Given the description of an element on the screen output the (x, y) to click on. 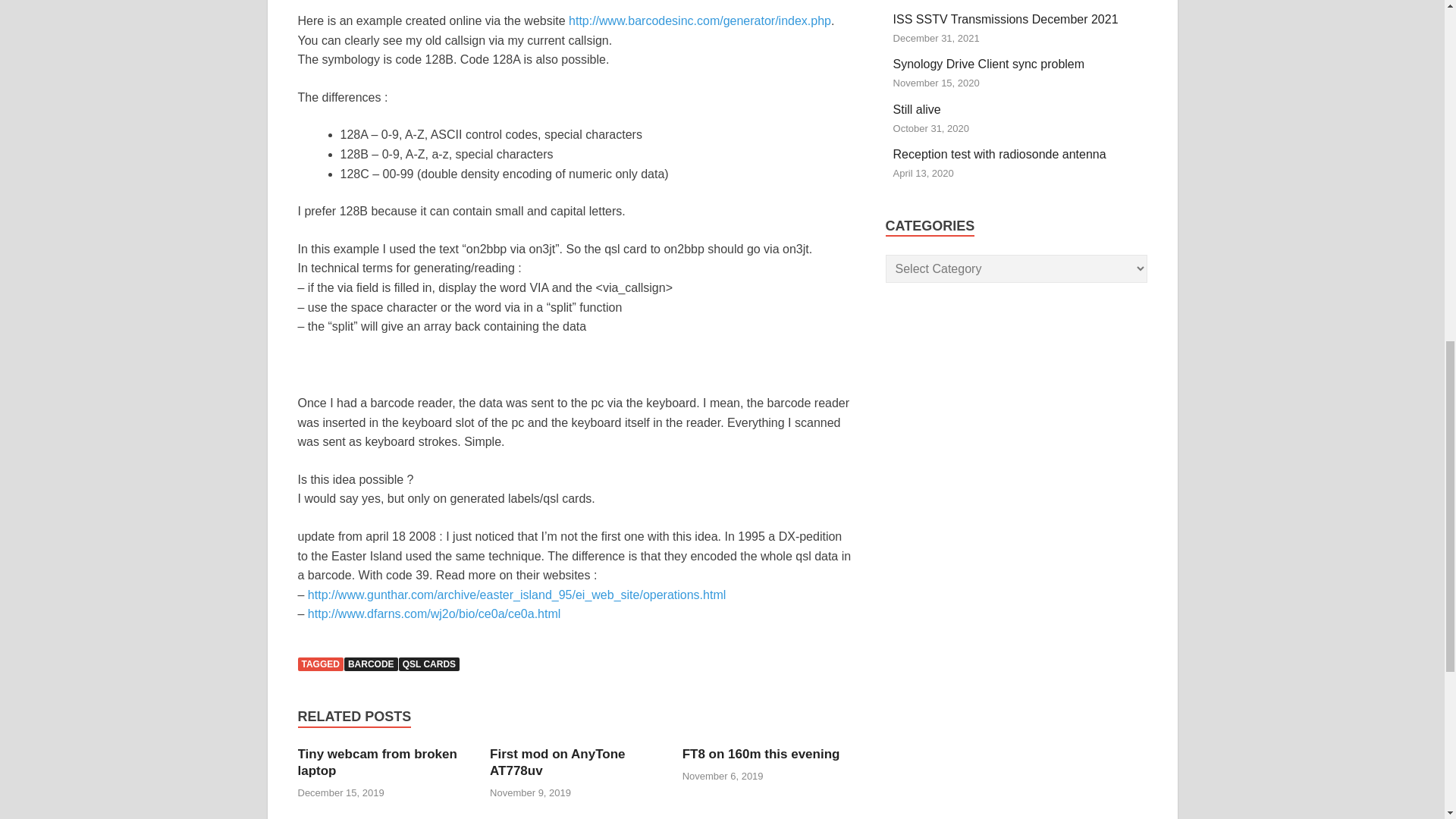
Tiny webcam from broken laptop (377, 762)
BARCODE (370, 663)
FT8 on 160m this evening (761, 753)
Synology Drive Client sync problem (988, 63)
First mod on AnyTone AT778uv (557, 762)
ISS SSTV Transmissions December 2021 (1005, 19)
First mod on AnyTone AT778uv (557, 762)
Tiny webcam from broken laptop (377, 762)
QSL CARDS (429, 663)
FT8 on 160m this evening (761, 753)
